Given the description of an element on the screen output the (x, y) to click on. 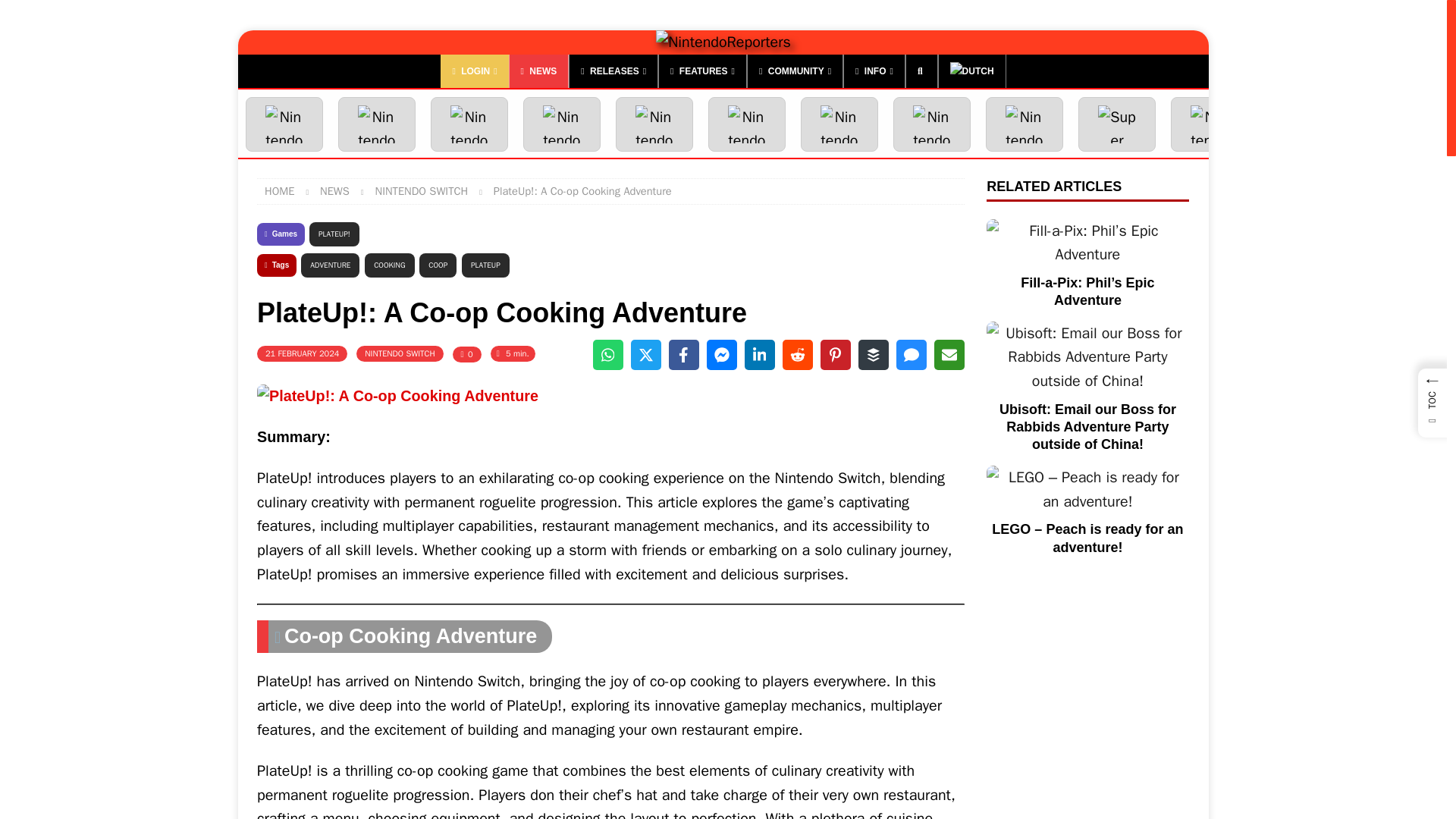
INFO (874, 70)
Nintendo Releases (613, 70)
NEWS (538, 70)
NintendoReporters (723, 41)
Nintendo News (538, 70)
Login (474, 70)
NintendoReporters (723, 42)
FEATURES (702, 70)
Nintendo Features (702, 70)
COMMUNITY (794, 70)
